Given the description of an element on the screen output the (x, y) to click on. 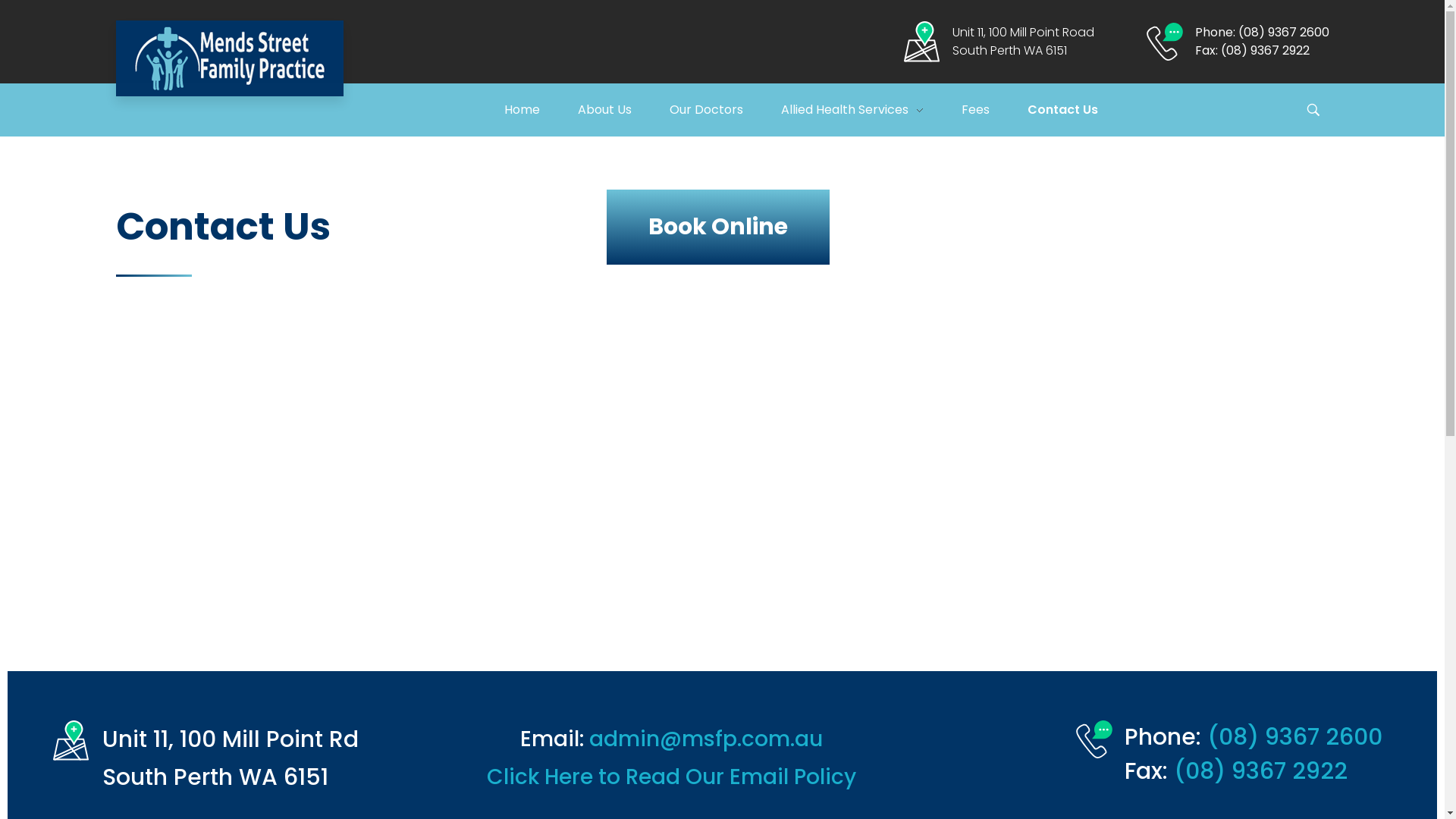
demo-attachment-384-hospital-location Element type: hover (70, 740)
(08) 9367 2922 Element type: text (1260, 771)
admin@msfp.com.au Element type: text (705, 738)
demo-attachment-309-emergency_call_1 Element type: hover (1164, 41)
About Us Element type: text (623, 109)
Phone: (08) 9367 2600 Element type: text (1262, 31)
Allied Health Services Element type: text (871, 109)
demo-attachment-309-emergency_call_1 Element type: hover (1094, 739)
Mends Street Family Practice Element type: hover (228, 58)
Book Online Element type: text (717, 226)
Mends Street Family Practice Element type: text (241, 104)
Fees Element type: text (994, 109)
(08) 9367 2600 Element type: text (1294, 737)
Fax: (08) 9367 2922 Element type: text (1252, 50)
Contact Us Element type: text (1081, 109)
Home Element type: text (540, 109)
Unit 11, 100 Mill Point Road
South Perth WA 6151 Element type: text (1023, 41)
demo-attachment-384-hospital-location Element type: hover (921, 41)
Our Doctors Element type: text (725, 109)
Click Here to Read Our Email Policy Element type: text (671, 776)
